Given the description of an element on the screen output the (x, y) to click on. 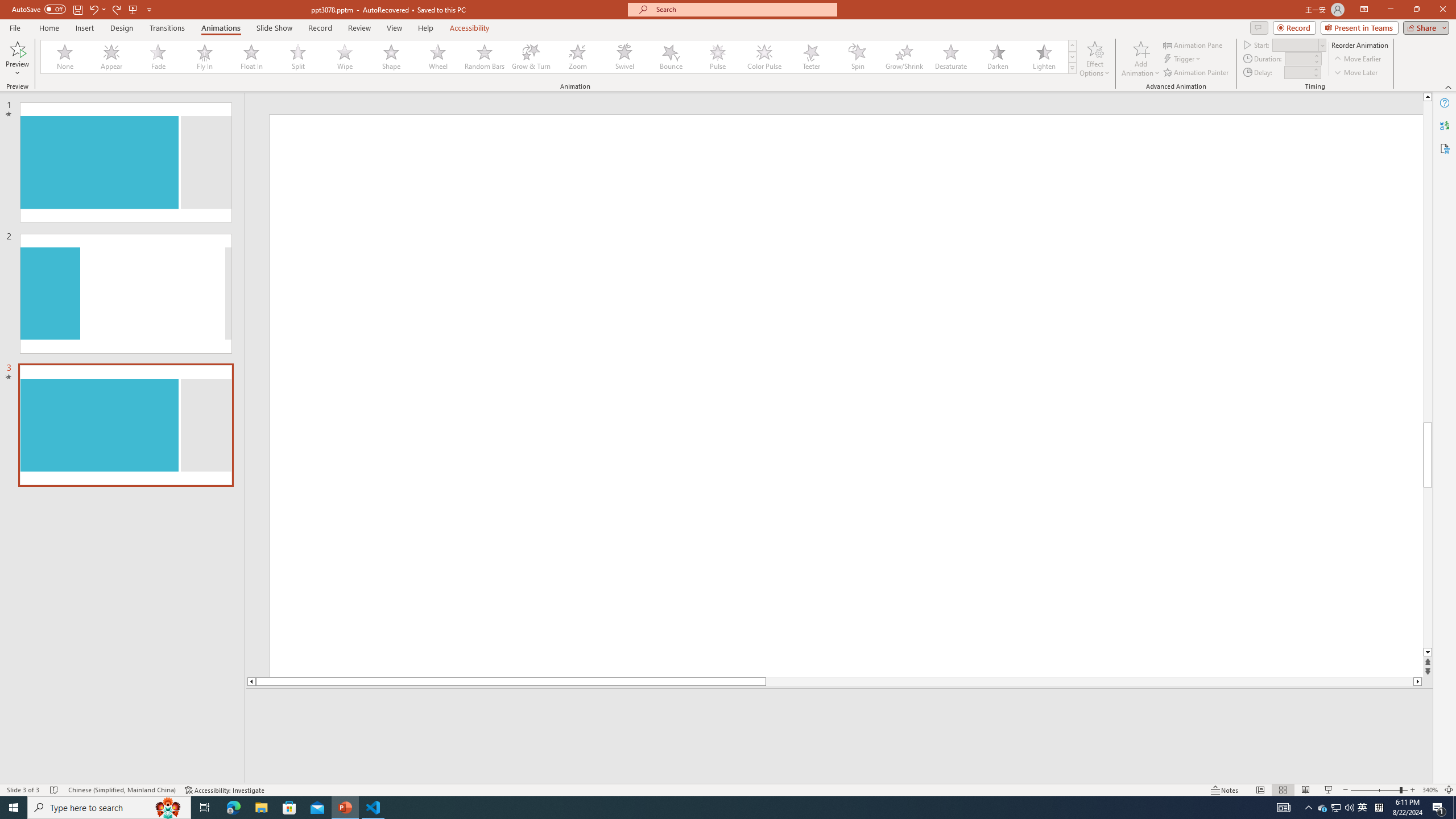
Pulse (717, 56)
Appear (111, 56)
Swivel (624, 56)
Animation Pane (1193, 44)
AutomationID: AnimationGallery (558, 56)
Grow/Shrink (903, 56)
